Given the description of an element on the screen output the (x, y) to click on. 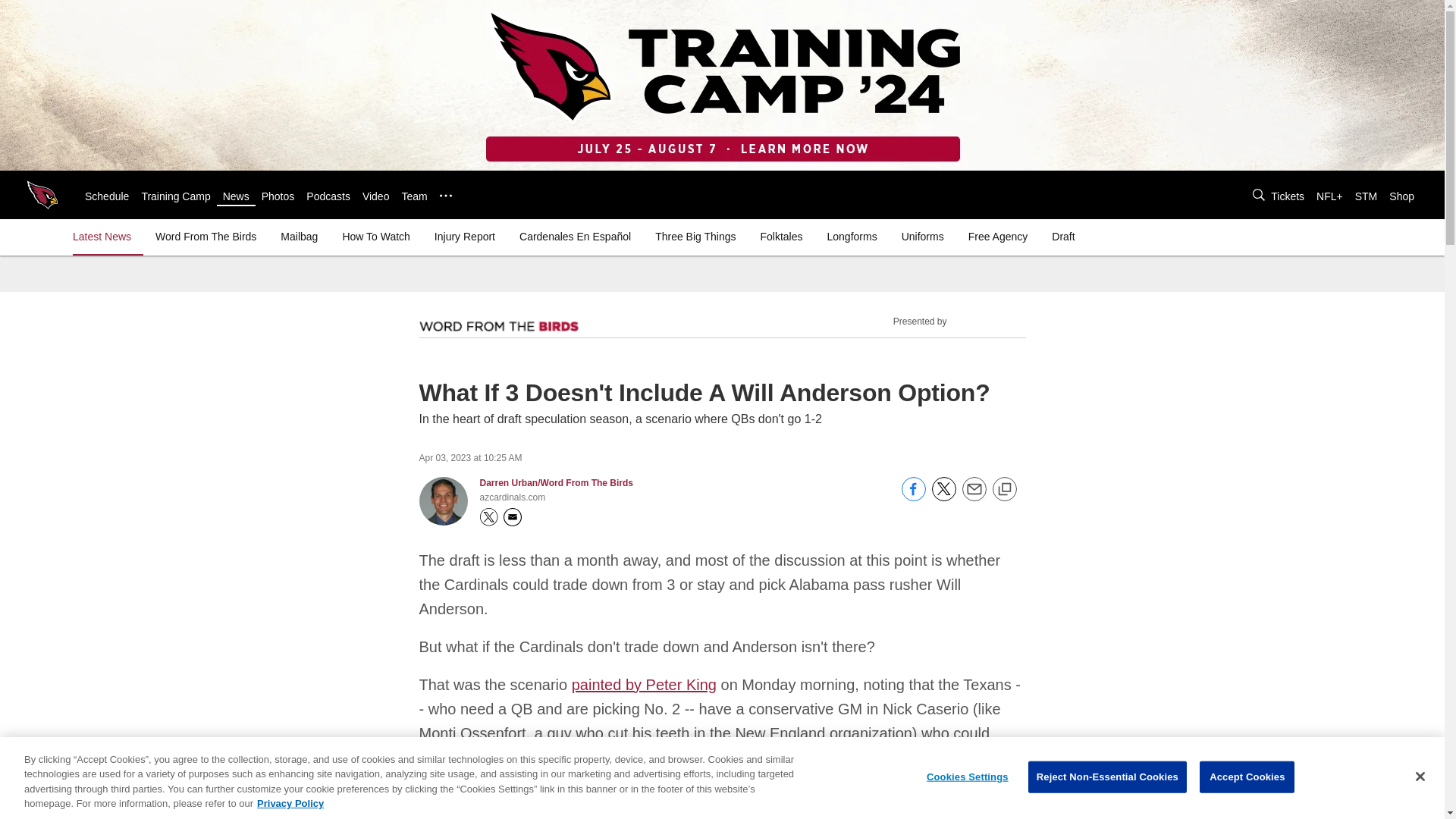
Tickets (1287, 196)
Podcasts (327, 196)
Schedule (106, 196)
Training Camp (175, 196)
Word From The Birds (205, 236)
How To Watch (375, 236)
STM (1366, 196)
Three Big Things (695, 236)
Photos (278, 196)
Video (376, 196)
Photos (278, 196)
Training Camp (175, 196)
Podcasts (327, 196)
Latest News (104, 236)
Mailbag (299, 236)
